Given the description of an element on the screen output the (x, y) to click on. 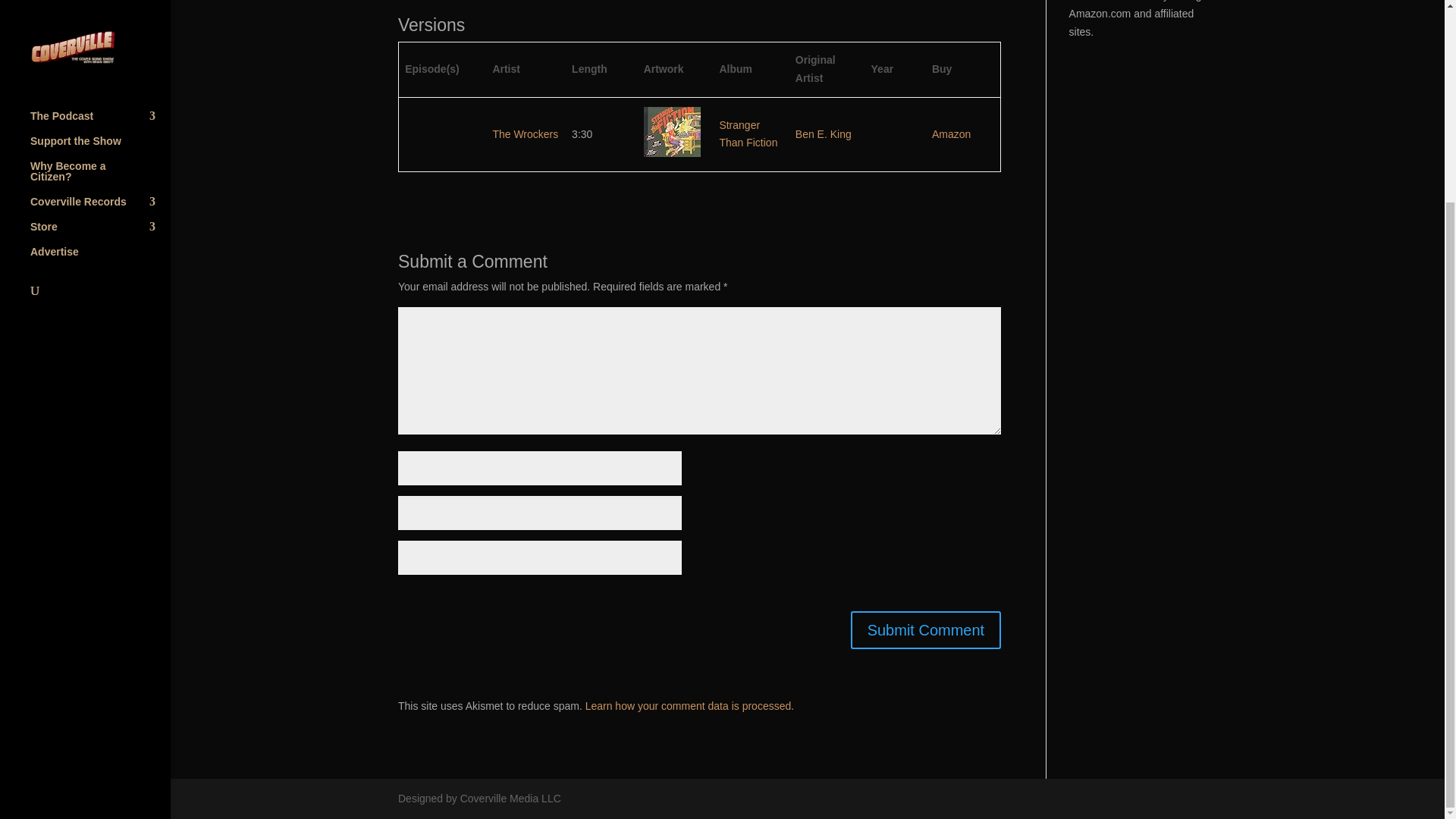
Submit Comment (925, 629)
Advertise (100, 6)
